Given the description of an element on the screen output the (x, y) to click on. 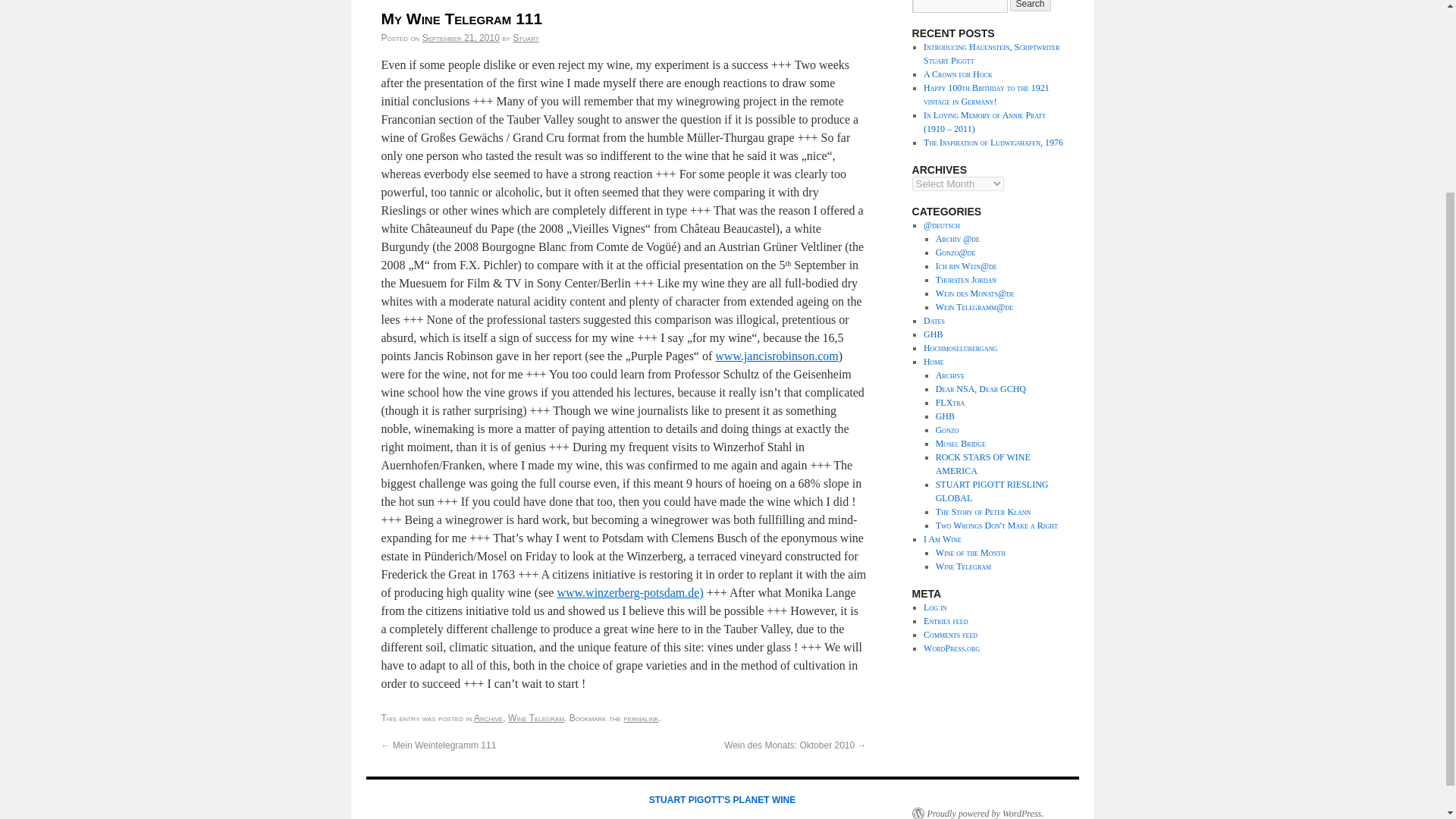
Wine Telegram (536, 717)
GHB (945, 416)
September 21, 2010 (460, 37)
FLXtra (950, 402)
Archive (488, 717)
Introducing Hauenstein, Scriptwriter Stuart Pigott (991, 53)
GHB (932, 334)
www.jancisrobinson.com (776, 355)
Archive (949, 375)
The Inspiration of Ludwigshafen, 1976 (992, 142)
Search (1030, 5)
Mosel Bridge (960, 443)
Dates (933, 320)
Happy 100th Birthday to the 1921 vintage in Germany! (986, 94)
Search (1030, 5)
